Given the description of an element on the screen output the (x, y) to click on. 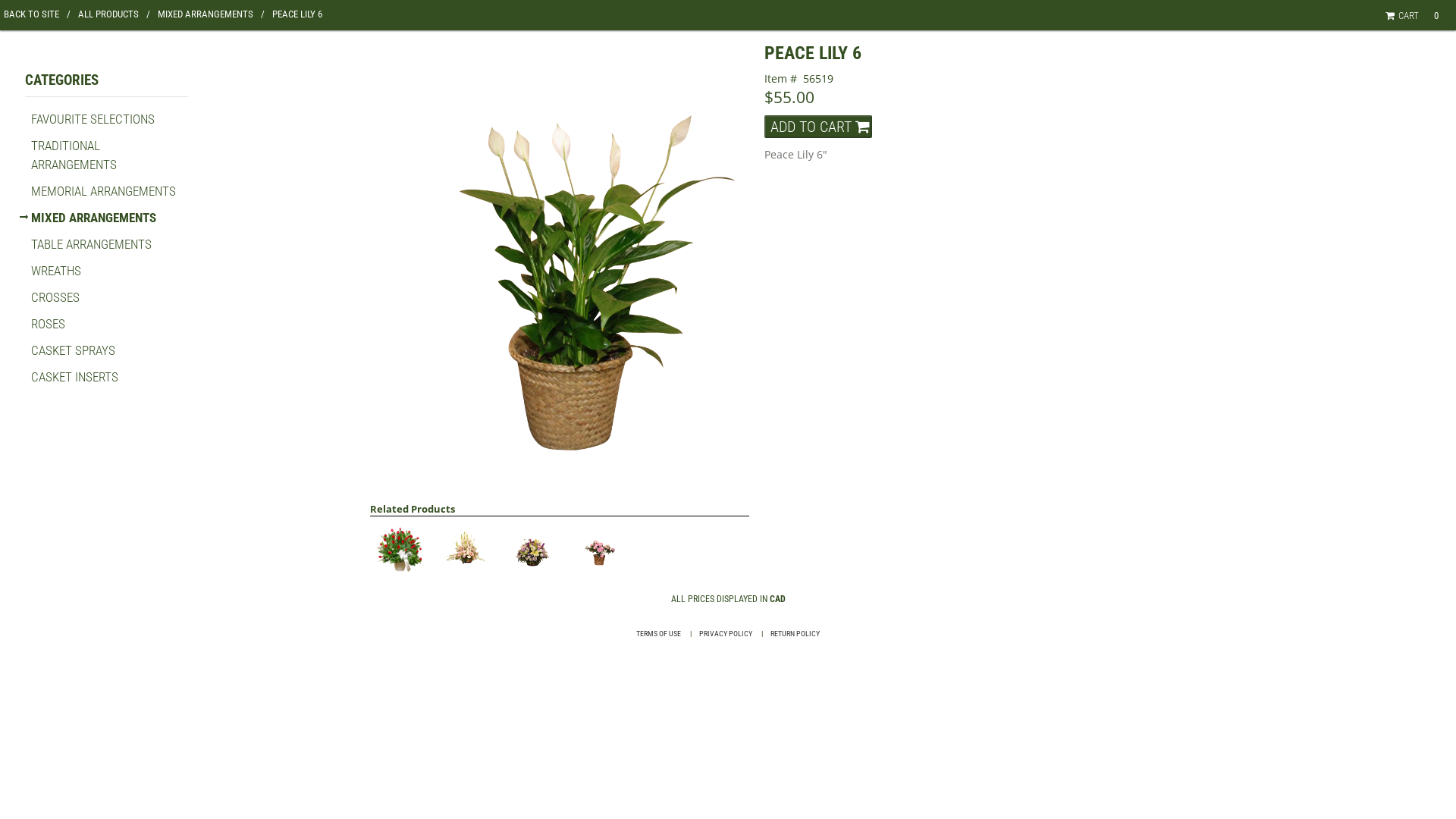
TERMS OF USE Element type: text (658, 633)
  Matching Container 25 Roses Element type: hover (399, 549)
PRIVACY POLICY Element type: text (725, 633)
RETURN POLICY Element type: text (794, 633)
ROSES Element type: text (48, 323)
           Wicker Basket Mixed Flower Large Element type: hover (465, 549)
Wicker Basket Mixed Flower Small Element type: hover (532, 549)
MEMORIAL ARRANGEMENTS Element type: text (103, 190)
WREATHS Element type: text (56, 270)
ADD TO CART Element type: text (818, 126)
ALL PRODUCTS Element type: text (114, 13)
Click to Enlarge Element type: text (559, 270)
CASKET INSERTS Element type: text (74, 376)
MIXED ARRANGEMENTS Element type: text (93, 217)
TRADITIONAL ARRANGEMENTS Element type: text (73, 155)
BACK TO SITE Element type: text (36, 13)
TABLE ARRANGEMENTS Element type: text (91, 243)
CROSSES Element type: text (55, 296)
CART Element type: text (1404, 15)
CASKET SPRAYS Element type: text (73, 349)
    Azalea Flowering Plant Element type: hover (599, 549)
FAVOURITE SELECTIONS Element type: text (92, 118)
MIXED ARRANGEMENTS Element type: text (210, 13)
